Given the description of an element on the screen output the (x, y) to click on. 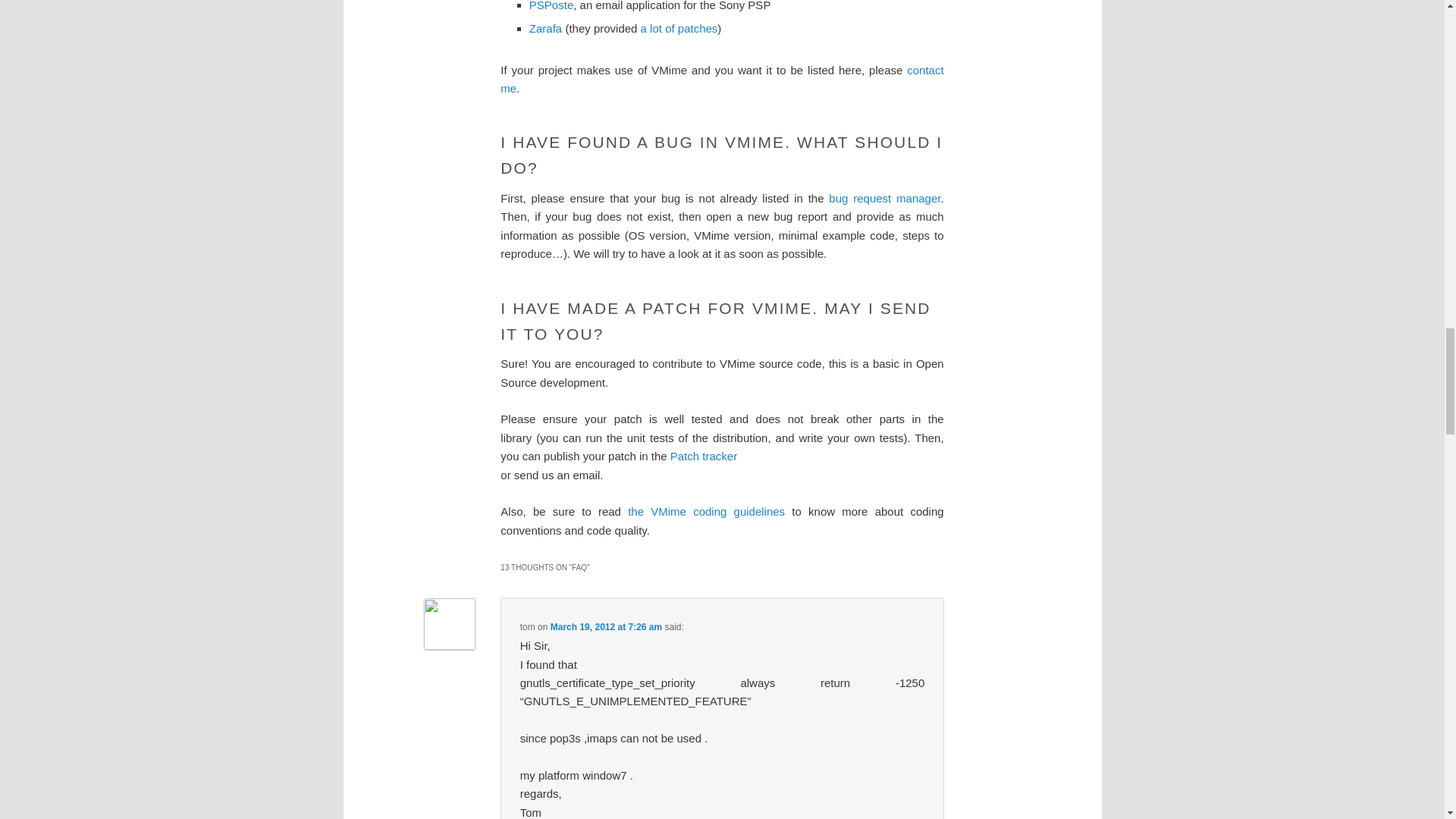
PSPoste (551, 5)
